Given the description of an element on the screen output the (x, y) to click on. 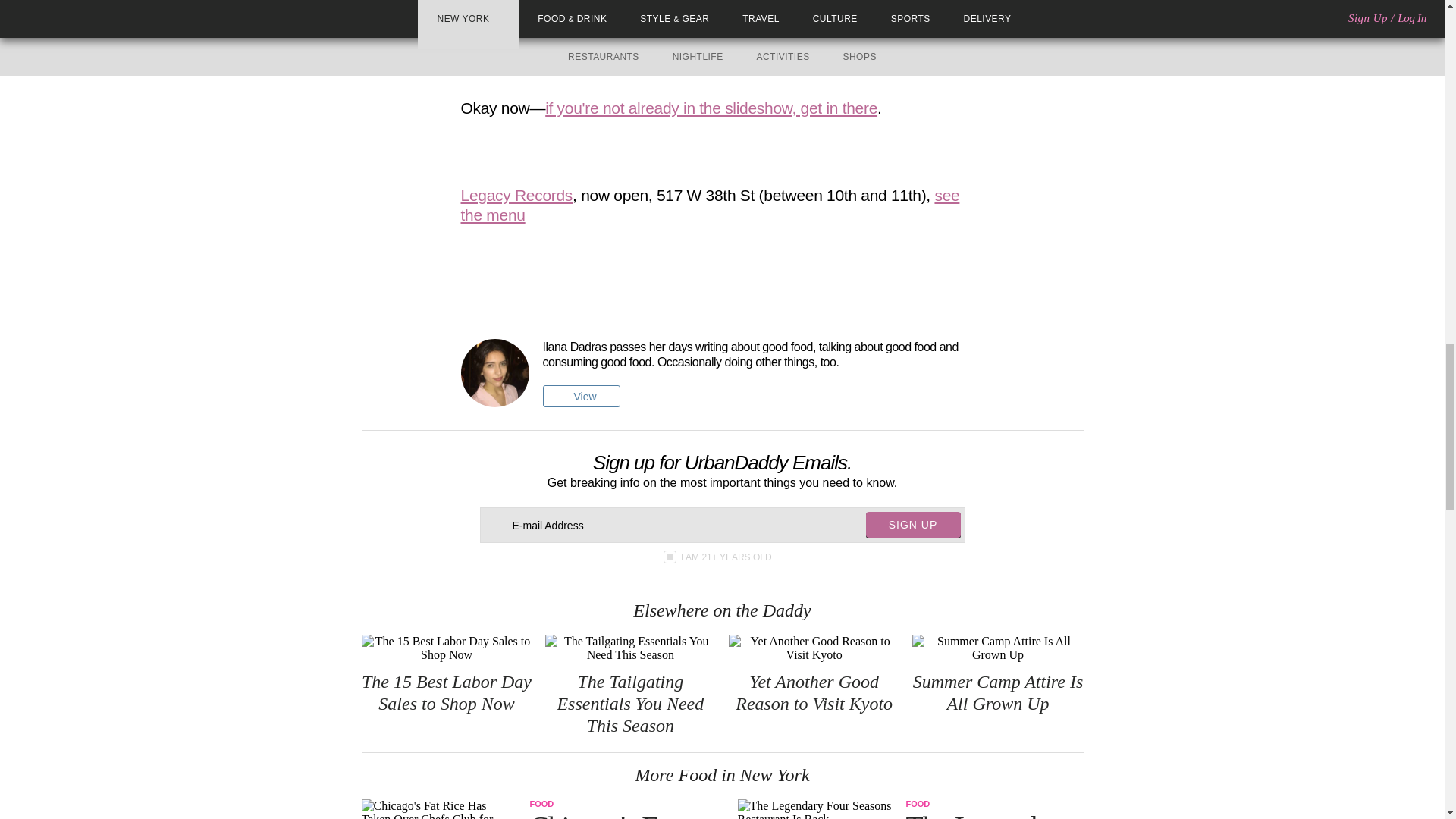
Legacy Records (517, 194)
see the menu (710, 204)
Pinterest (732, 275)
if you're not already in the slideshow, get in there (710, 108)
